Given the description of an element on the screen output the (x, y) to click on. 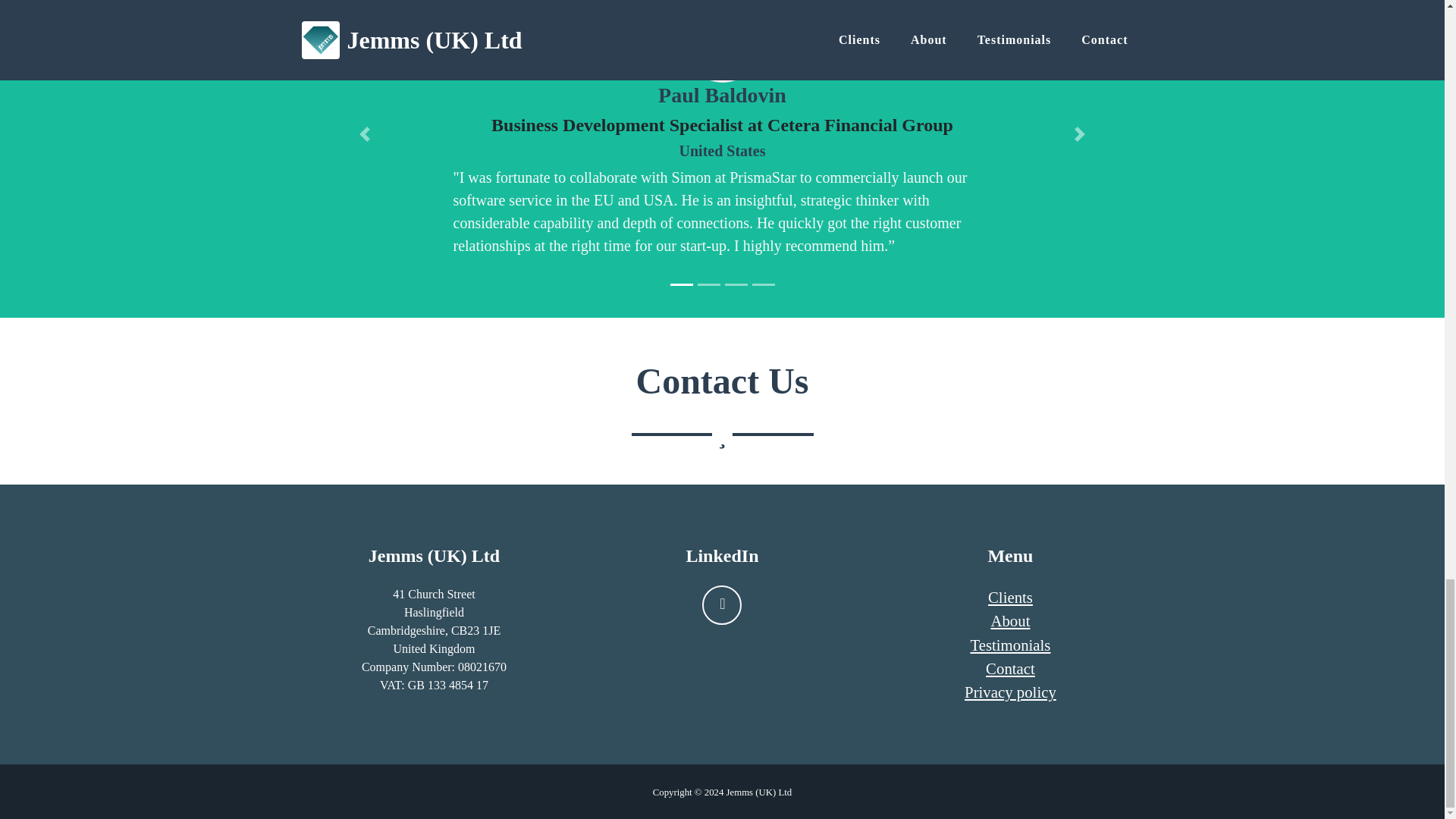
Clients (1010, 597)
Privacy policy (1010, 692)
Contact (1010, 668)
Clients (1010, 597)
Testimonials (1009, 644)
Testimonials (1009, 644)
About (1009, 620)
About (1009, 620)
Contact (1010, 668)
